Given the description of an element on the screen output the (x, y) to click on. 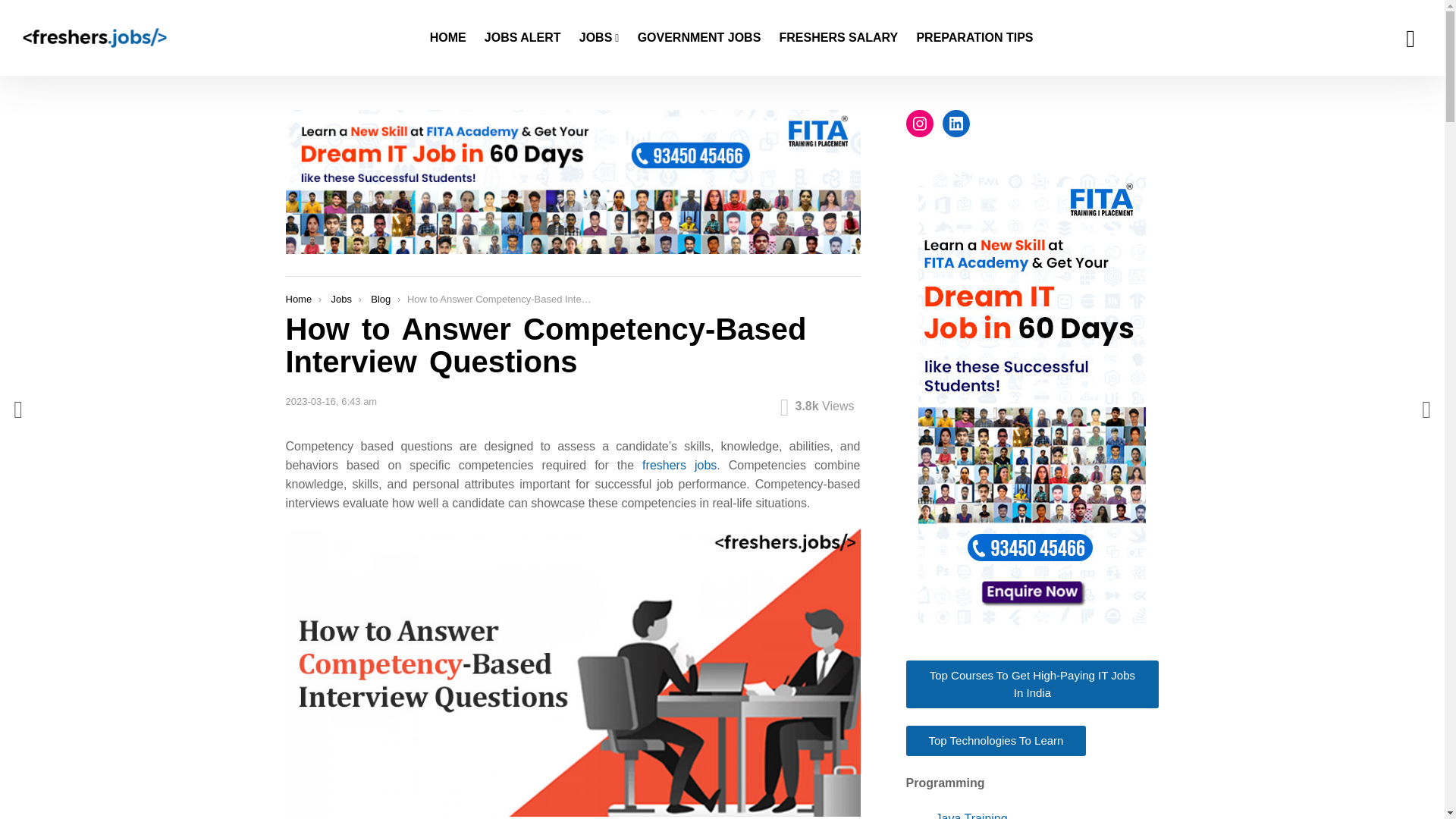
HOME (448, 37)
Jobs (340, 298)
GOVERNMENT JOBS (699, 37)
JOBS ALERT (523, 37)
PREPARATION TIPS (974, 37)
Blog (380, 298)
JOBS (599, 37)
FRESHERS SALARY (838, 37)
Home (298, 298)
freshers jobs (679, 464)
